Given the description of an element on the screen output the (x, y) to click on. 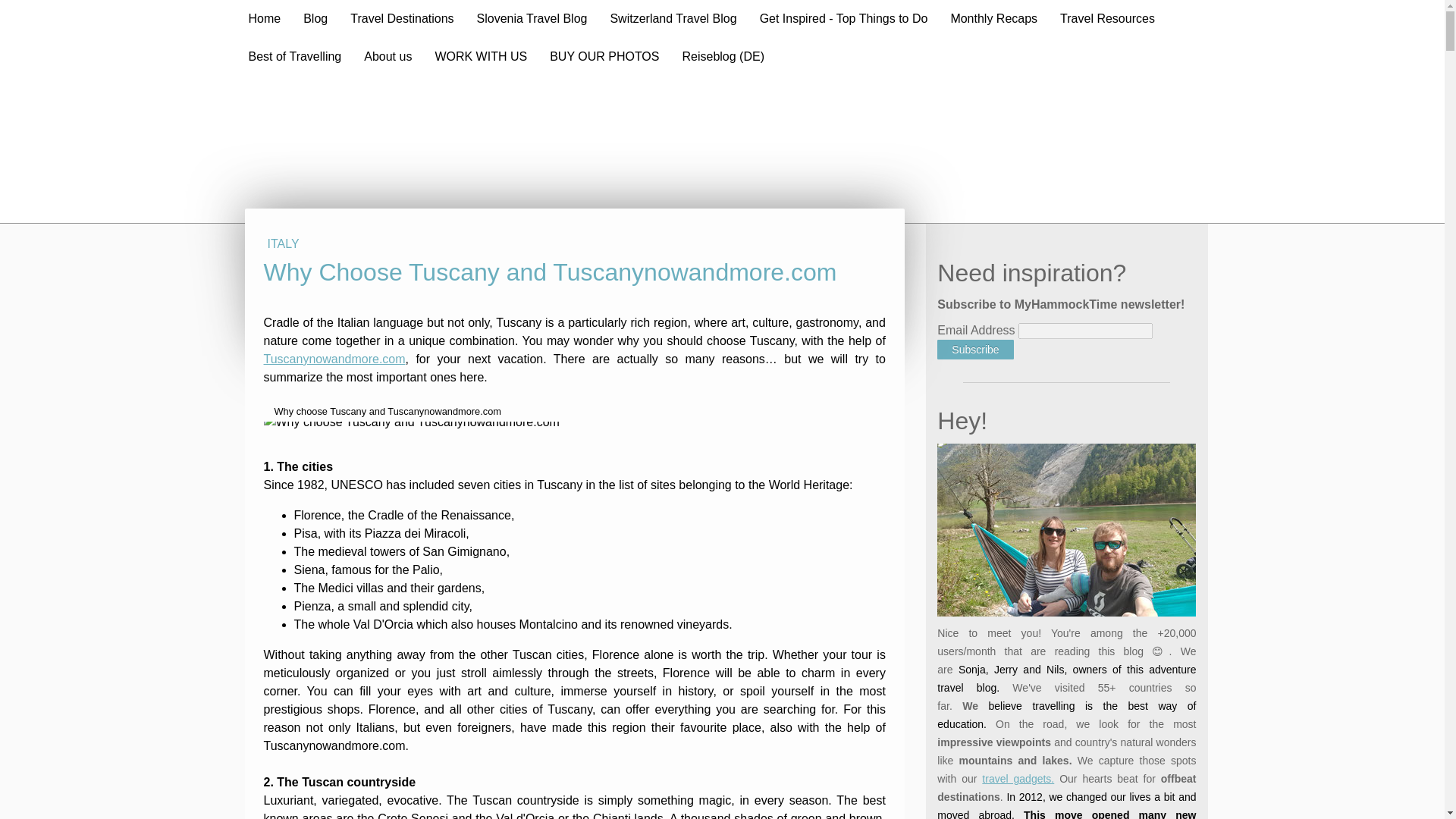
Travel resources (1017, 778)
Subscribe (975, 349)
Blog (315, 18)
Home (263, 18)
